Given the description of an element on the screen output the (x, y) to click on. 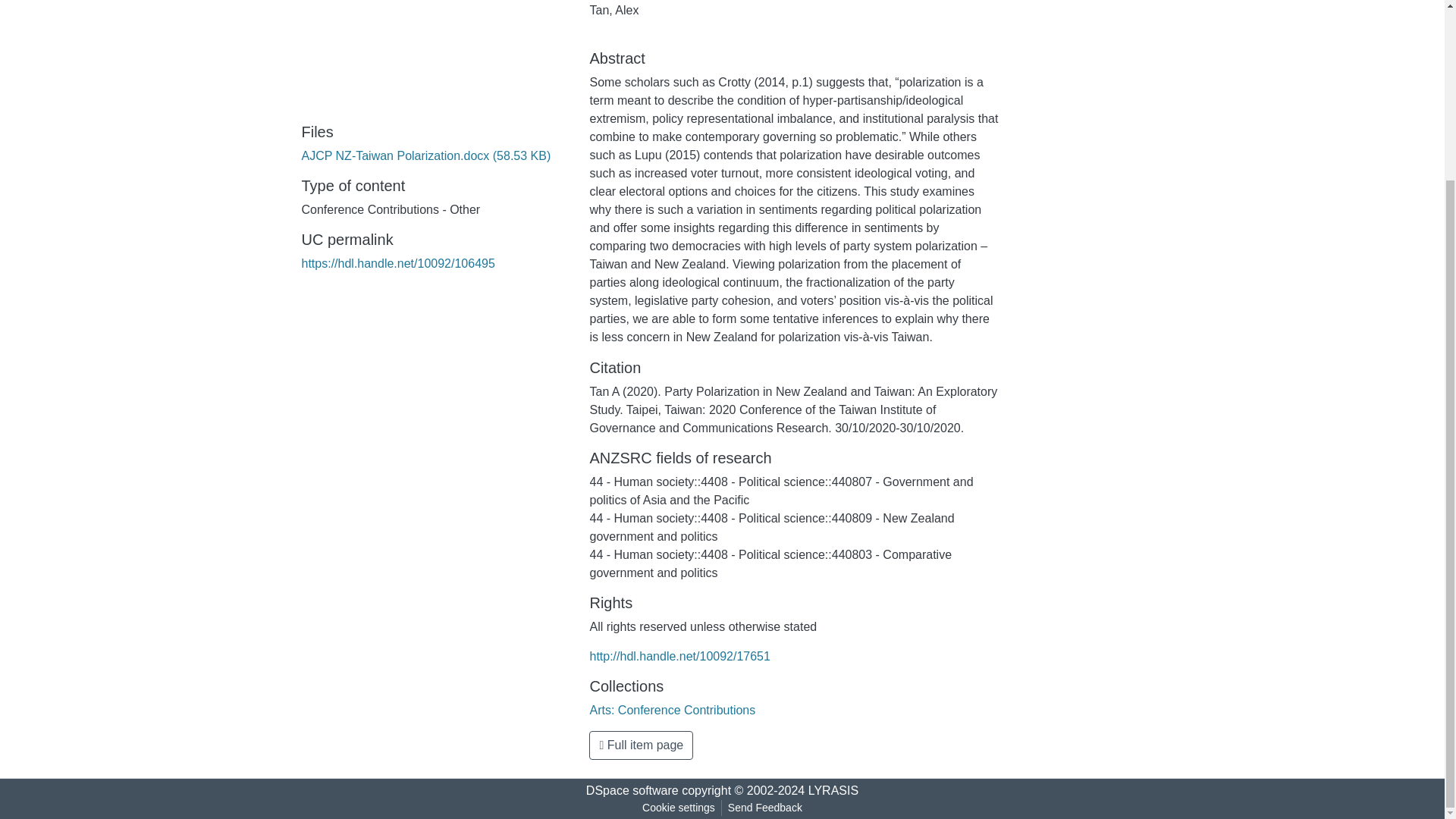
Full item page (641, 745)
LYRASIS (833, 789)
Arts: Conference Contributions (672, 709)
DSpace software (632, 789)
Send Feedback (765, 807)
Cookie settings (678, 807)
